Given the description of an element on the screen output the (x, y) to click on. 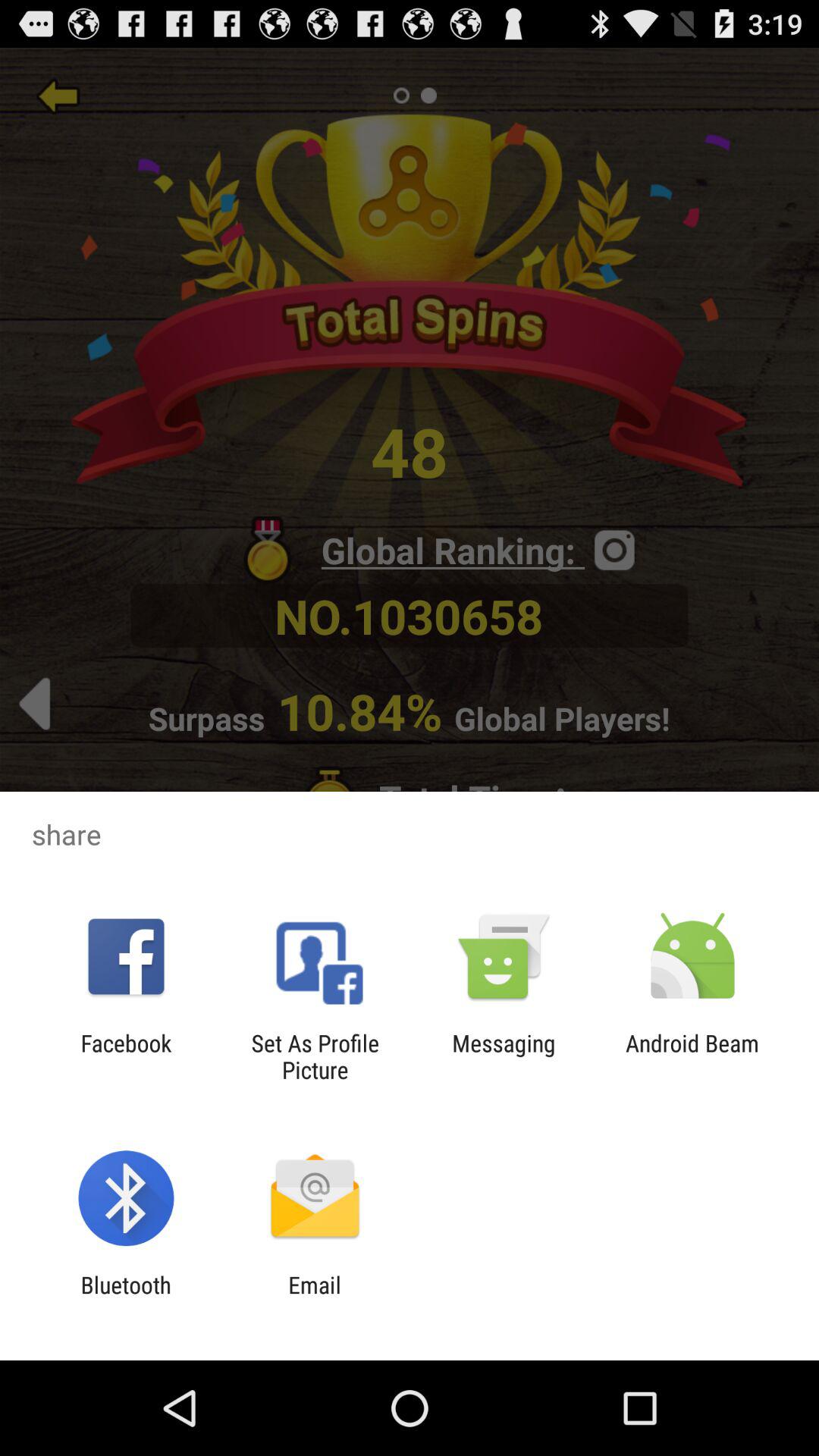
launch the item next to bluetooth app (314, 1298)
